Given the description of an element on the screen output the (x, y) to click on. 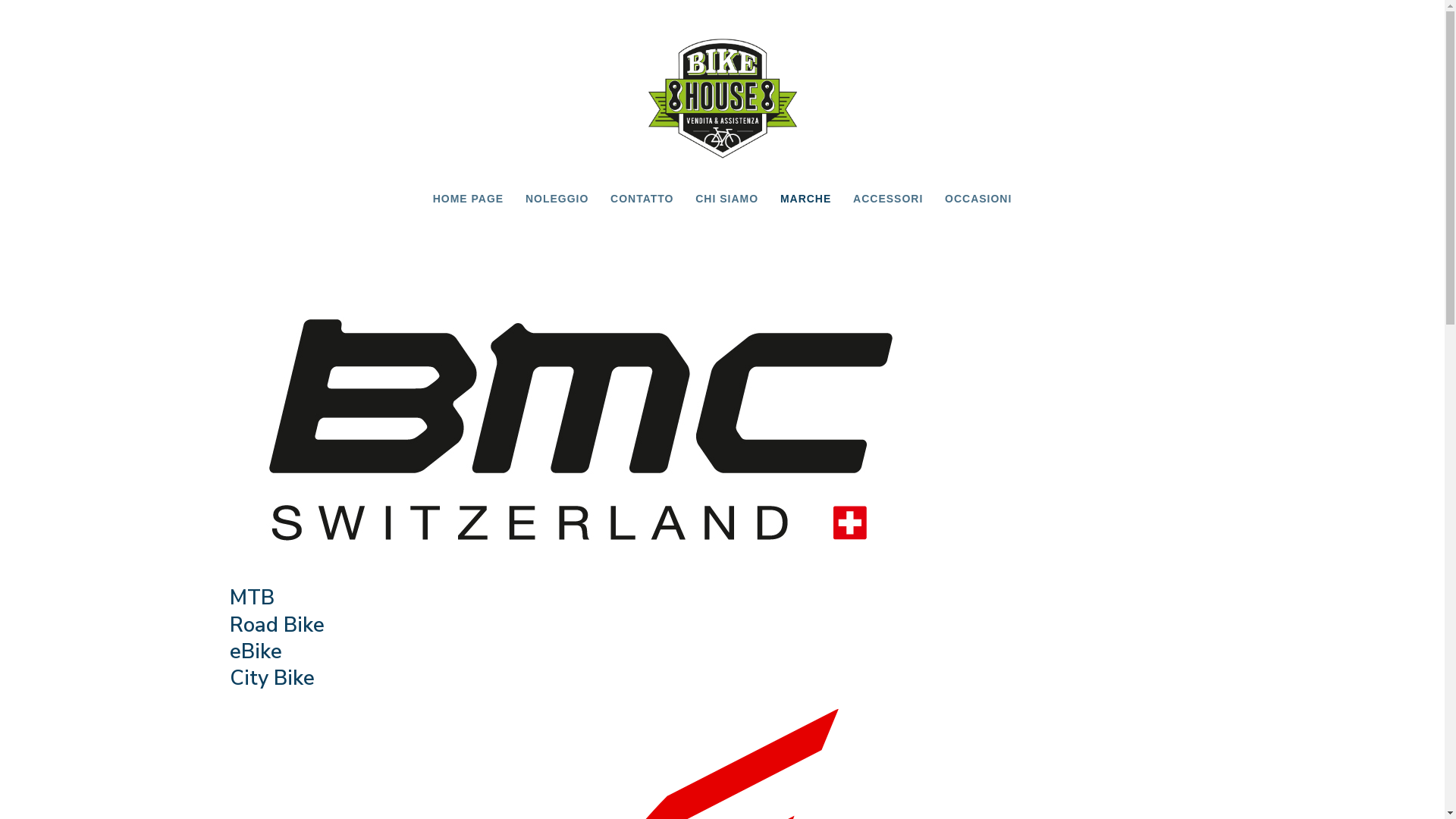
MARCHE Element type: text (805, 198)
ACCESSORI Element type: text (887, 198)
HOME PAGE Element type: text (468, 198)
CONTATTO Element type: text (641, 198)
OCCASIONI Element type: text (977, 198)
CHI SIAMO Element type: text (726, 198)
NOLEGGIO Element type: text (556, 198)
